Given the description of an element on the screen output the (x, y) to click on. 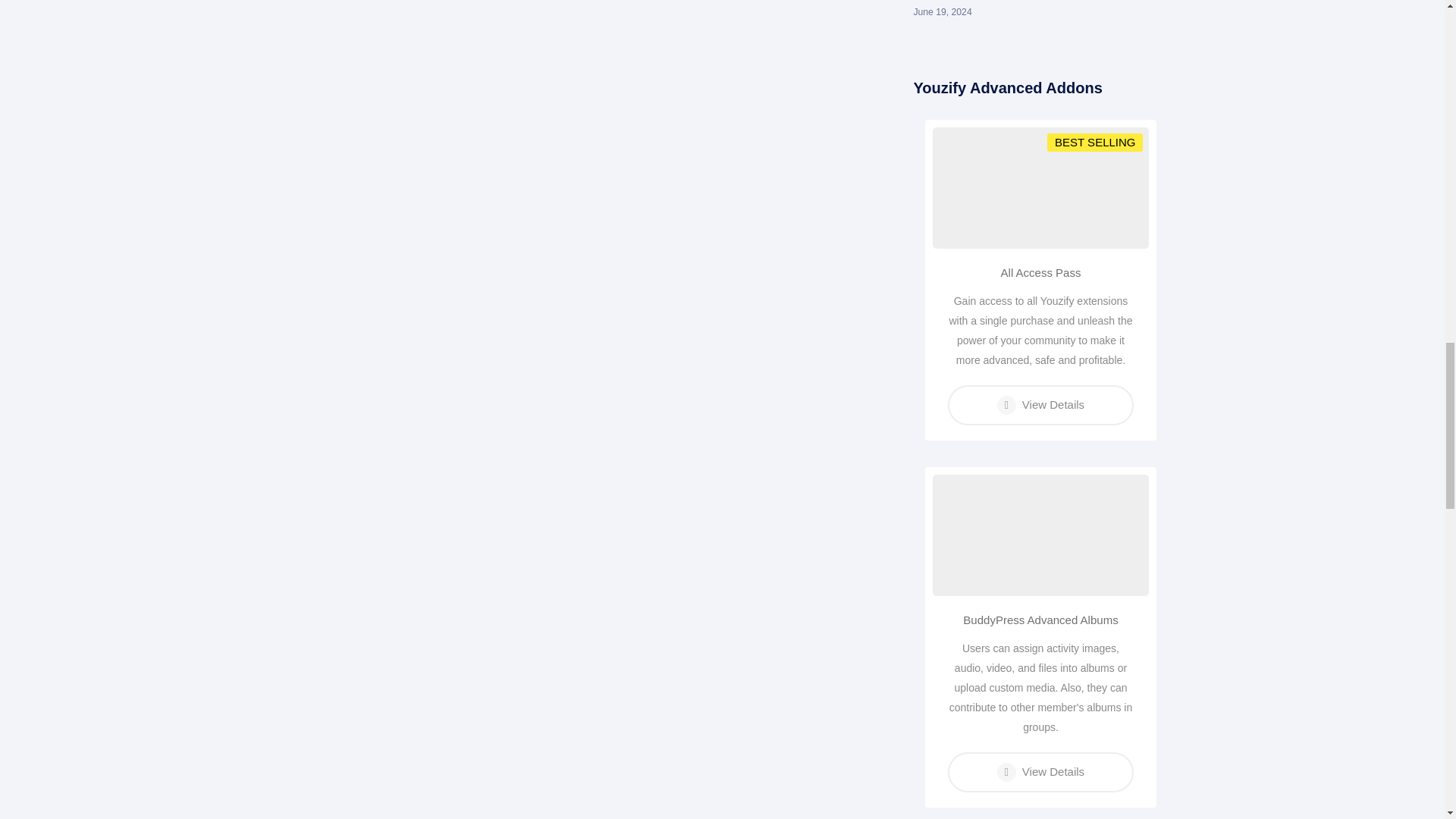
All Access Pass (1040, 272)
View Details (1040, 404)
View Details (1040, 772)
BuddyPress Advanced Albums (1040, 619)
